Given the description of an element on the screen output the (x, y) to click on. 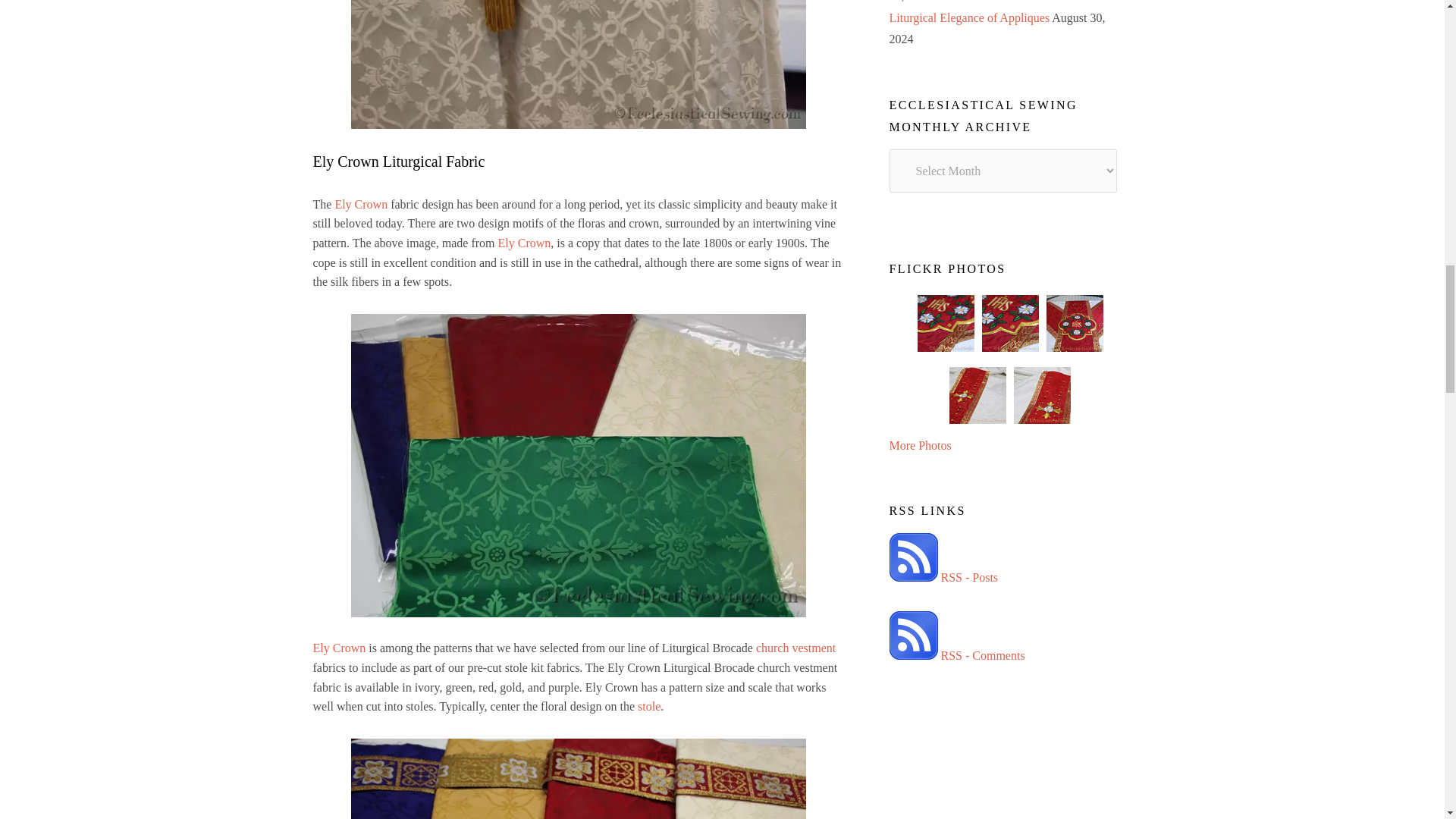
Ely Crown (360, 204)
Ely Crown (339, 647)
church vestment (793, 647)
stole (647, 706)
Ely Crown (524, 242)
